Given the description of an element on the screen output the (x, y) to click on. 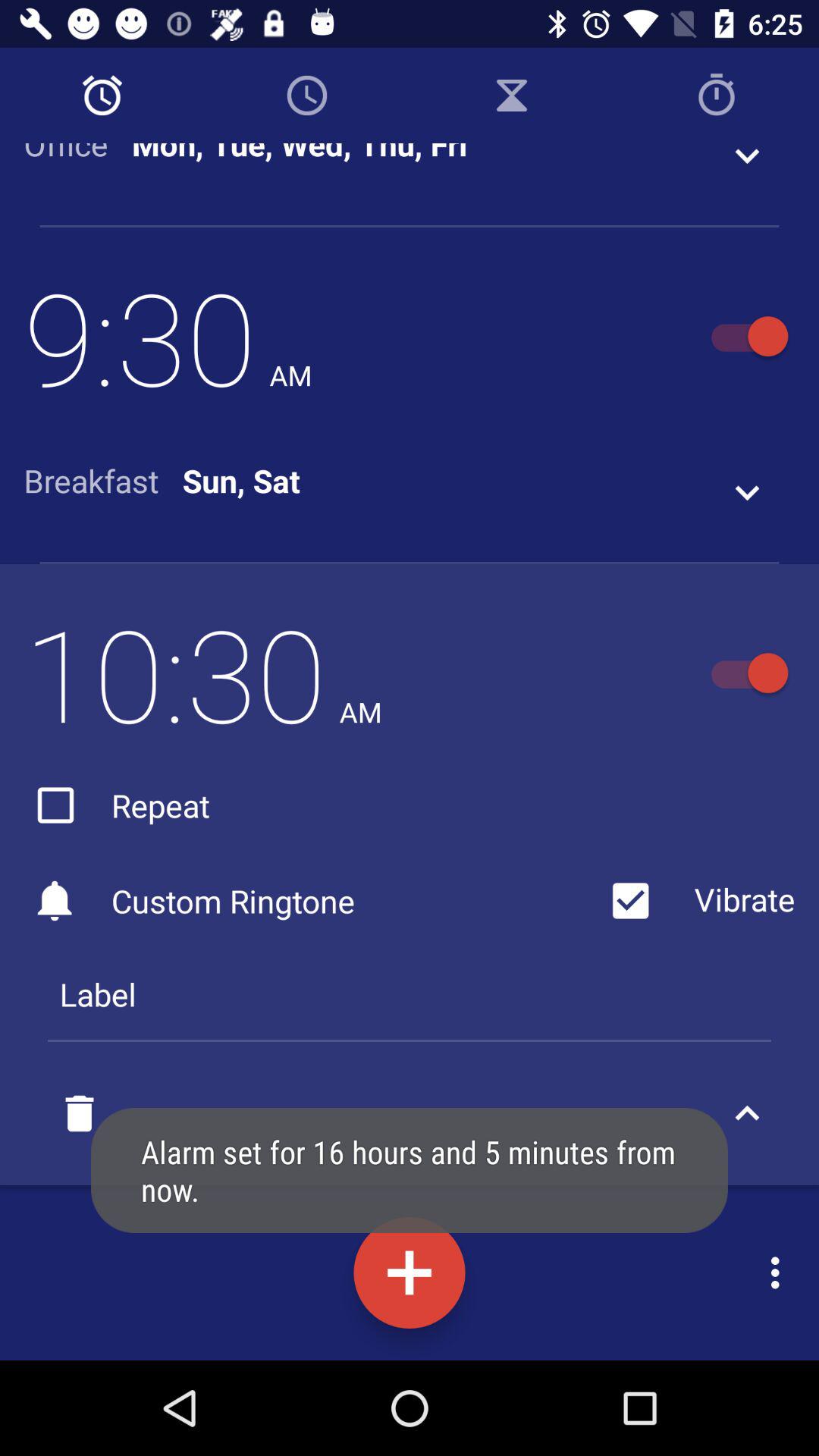
select the custom ringtone (310, 900)
